Given the description of an element on the screen output the (x, y) to click on. 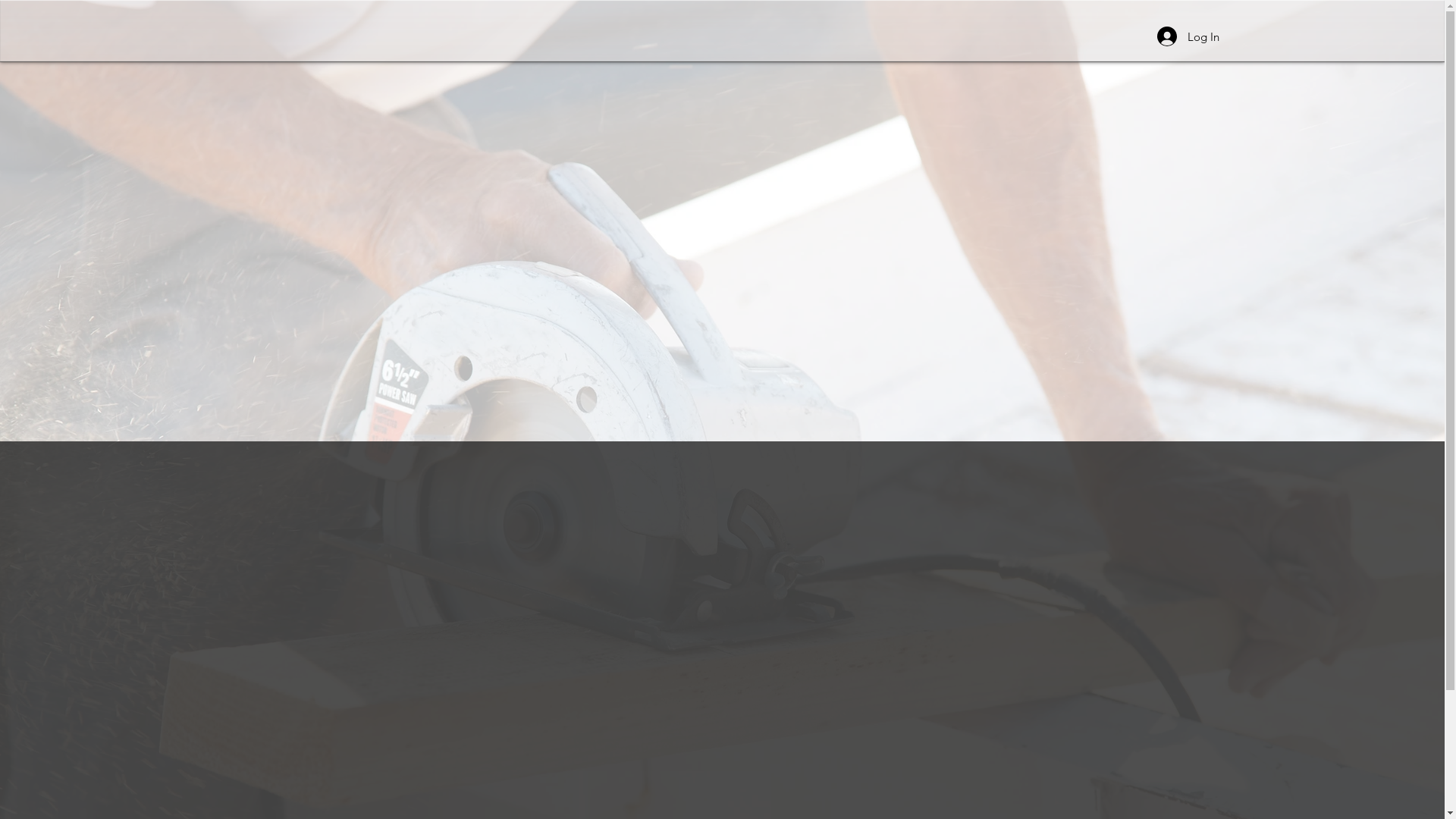
Log In Element type: text (1188, 35)
